Given the description of an element on the screen output the (x, y) to click on. 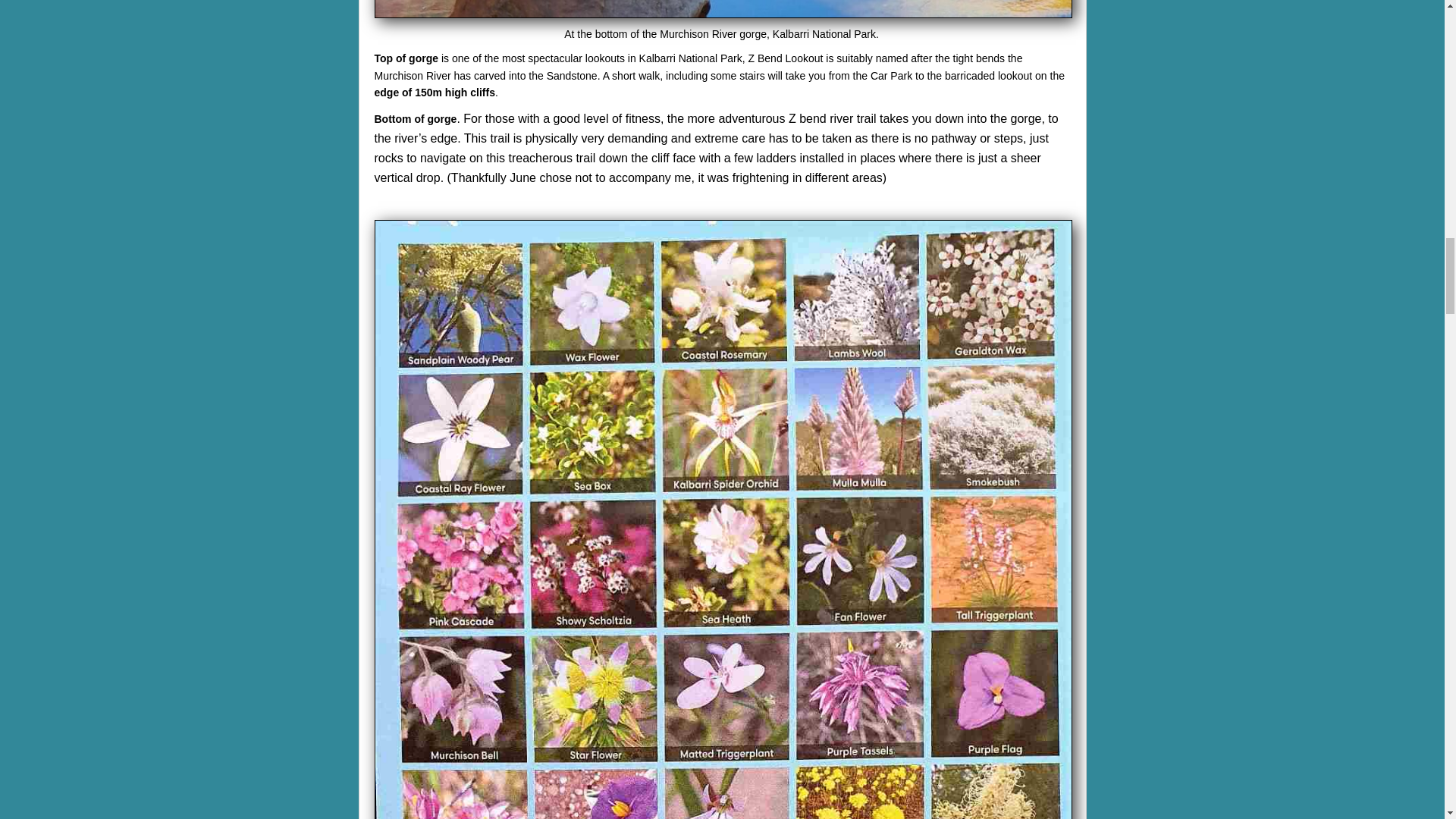
Murchison River gorge (722, 8)
